Given the description of an element on the screen output the (x, y) to click on. 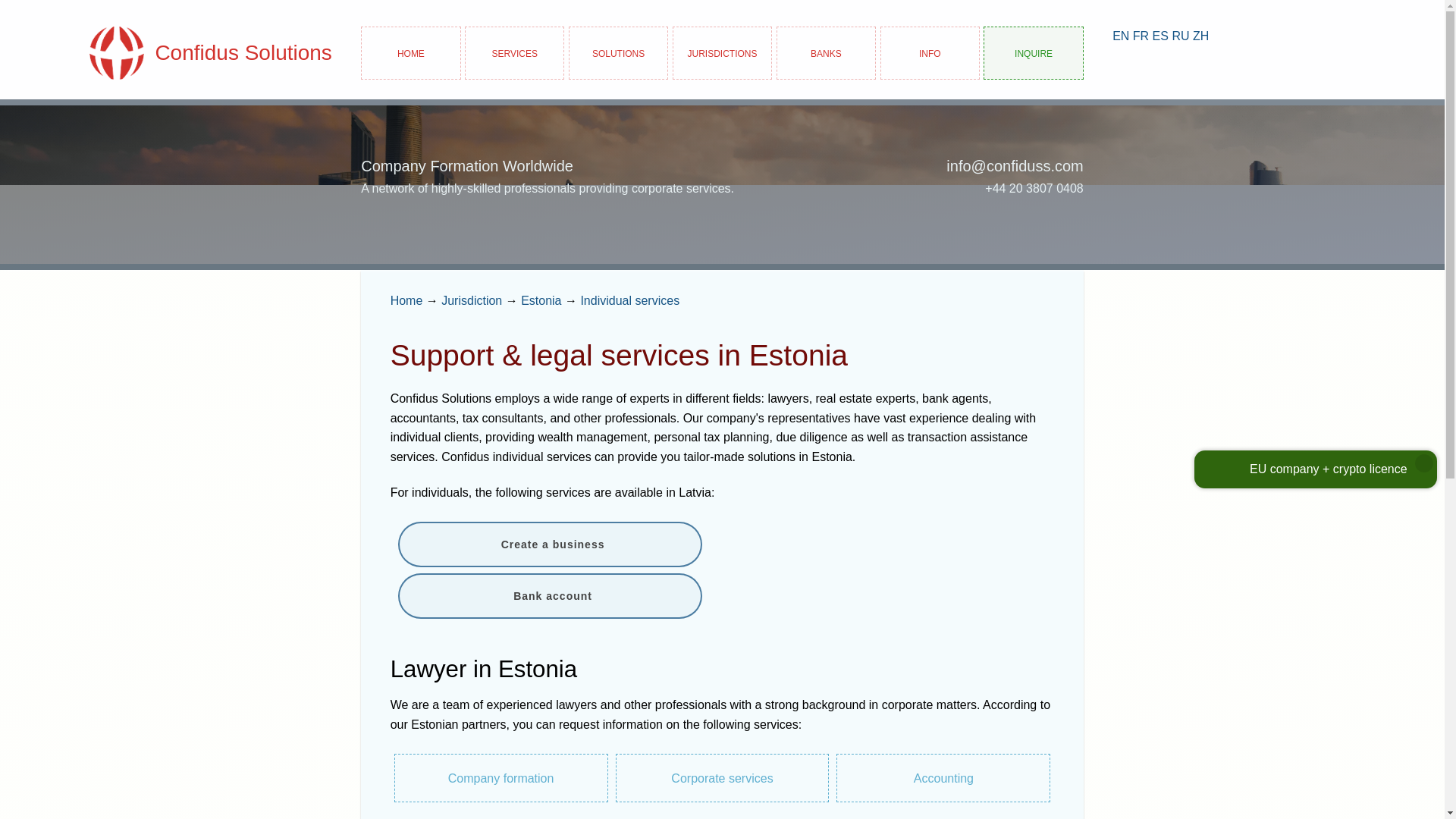
Personal banker for individual banking purposes - English (1120, 35)
Estonian company forming services (501, 777)
Estonia business creation (549, 544)
Accounting (942, 777)
Corporate tailor-made business solutions (618, 52)
Company incorporation services and corporate solutions (514, 52)
Bank introduction and account opening (826, 52)
Jurisdictions worldwide (471, 300)
Introduction to Estonia (540, 300)
Create a business (549, 544)
